Given the description of an element on the screen output the (x, y) to click on. 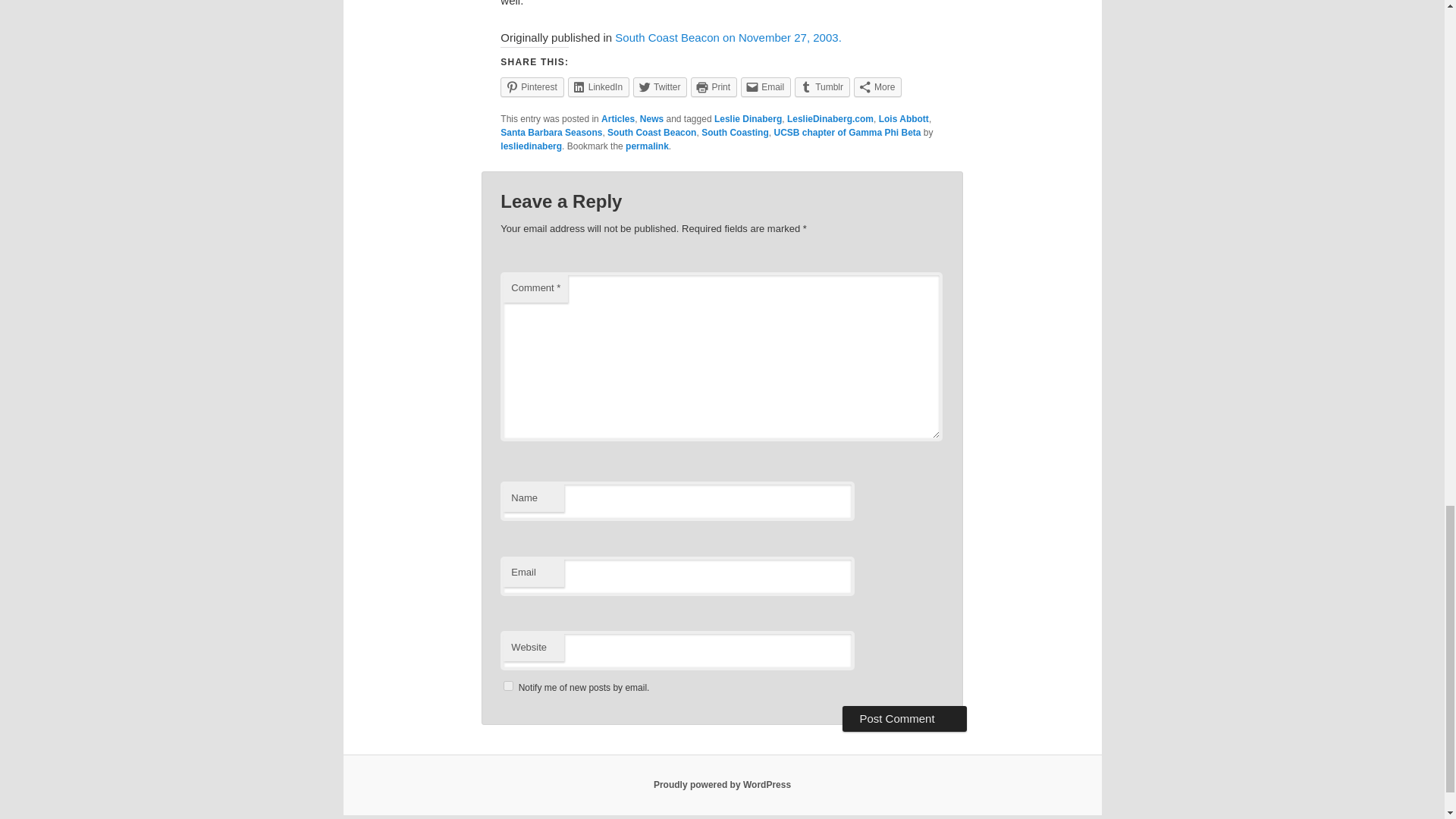
UCSB chapter of Gamma Phi Beta (846, 132)
South Coast Beacon (651, 132)
Click to share on LinkedIn (597, 86)
Click to share on Tumblr (822, 86)
subscribe (508, 685)
Lois Abbott (903, 118)
Tumblr (822, 86)
Click to share on Pinterest (531, 86)
South Coasting (734, 132)
Post Comment (904, 718)
Semantic Personal Publishing Platform (721, 784)
More (877, 86)
permalink (647, 145)
Twitter (660, 86)
Email (765, 86)
